Given the description of an element on the screen output the (x, y) to click on. 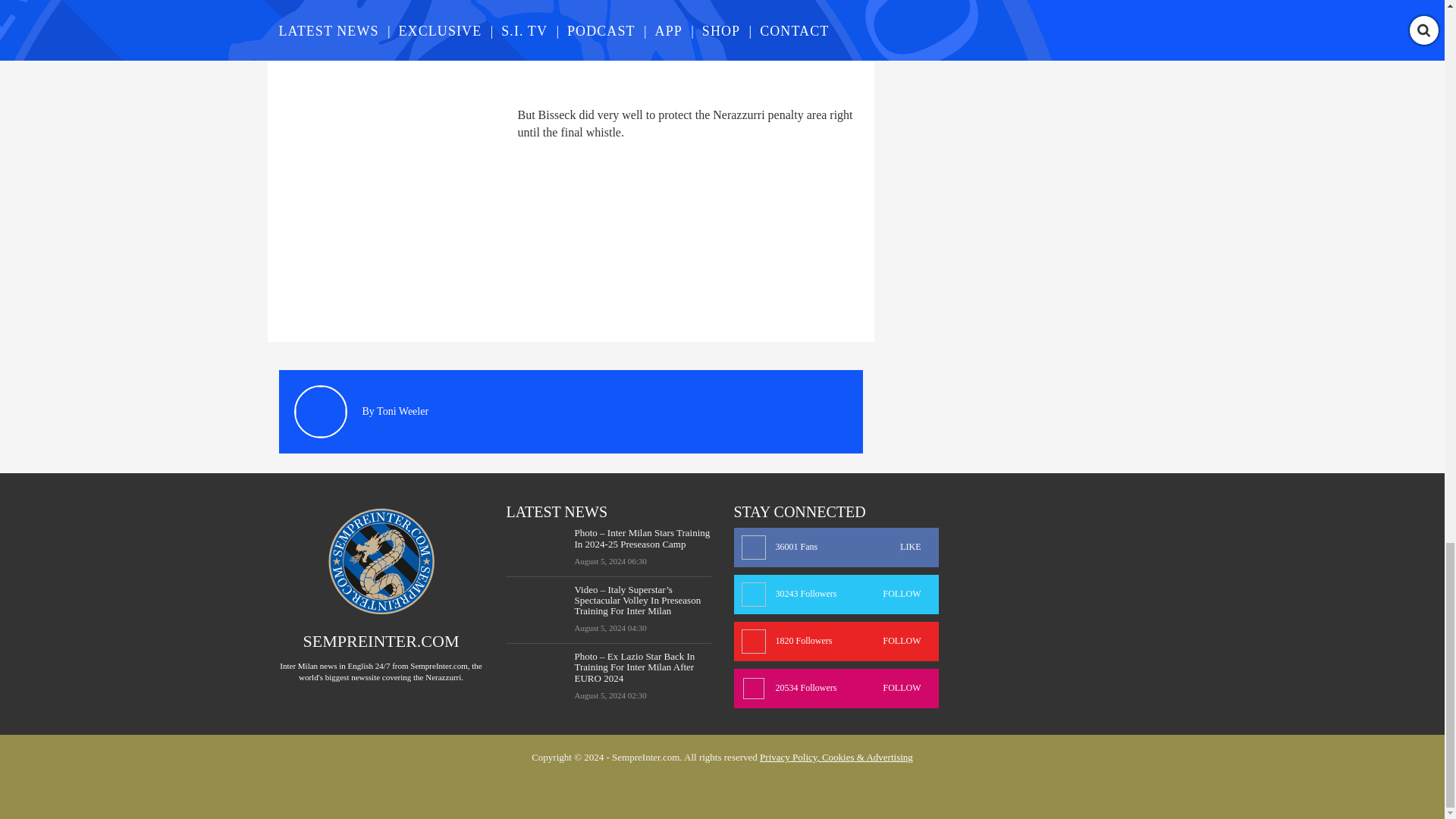
Toni Weeler (402, 410)
SEMPREINTER.COM (381, 640)
YouTube video player (491, 44)
View more articles by Toni Weeler (402, 410)
